Given the description of an element on the screen output the (x, y) to click on. 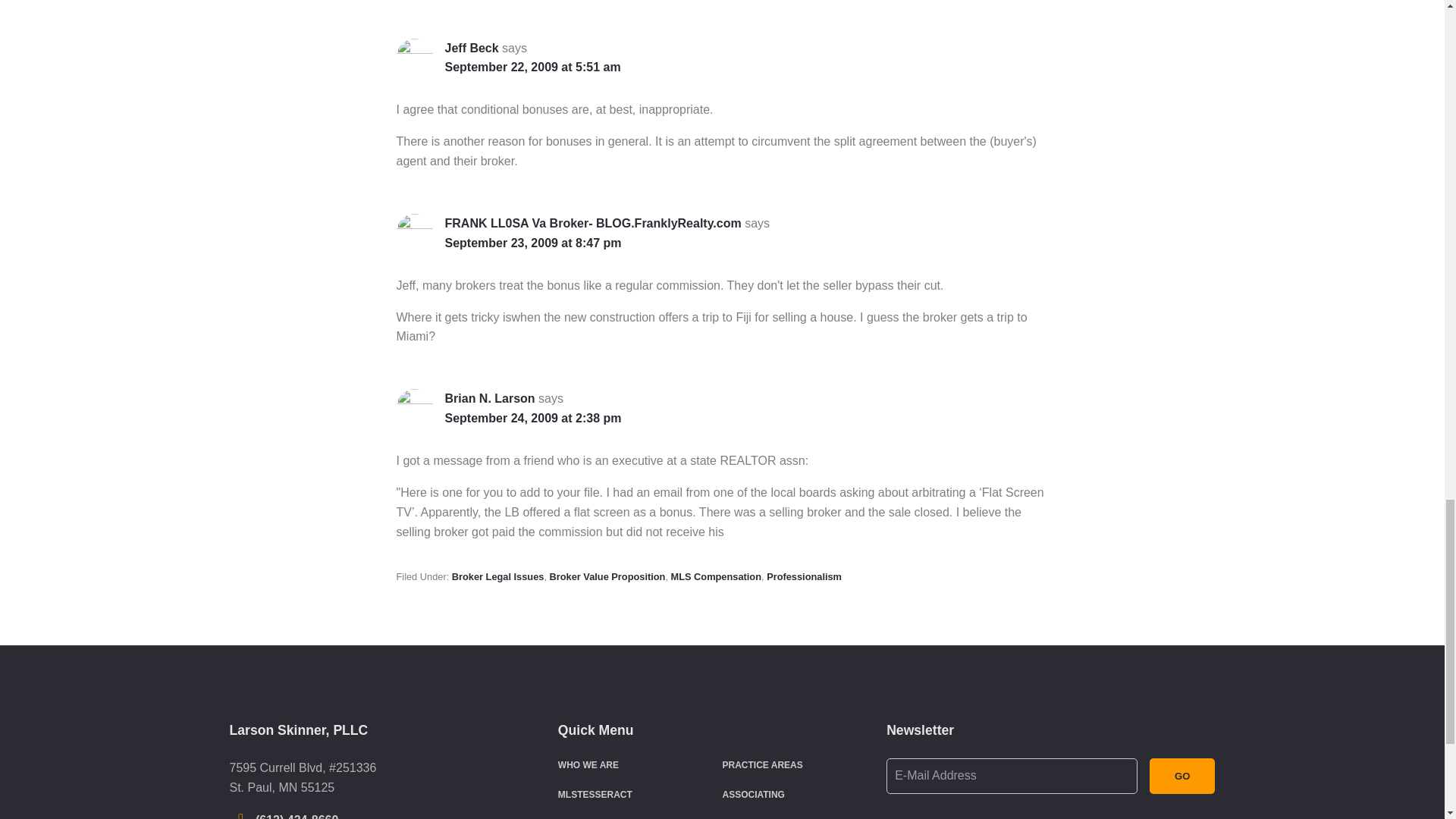
Brian N. Larson (489, 398)
Broker Legal Issues (497, 576)
WHO WE ARE (587, 765)
MLS Compensation (716, 576)
ASSOCIATING (753, 794)
FRANK LL0SA Va Broker- BLOG.FranklyRealty.com (592, 223)
MLSTESSERACT (594, 794)
Go (1182, 775)
PRACTICE AREAS (762, 765)
Broker Value Proposition (607, 576)
